Given the description of an element on the screen output the (x, y) to click on. 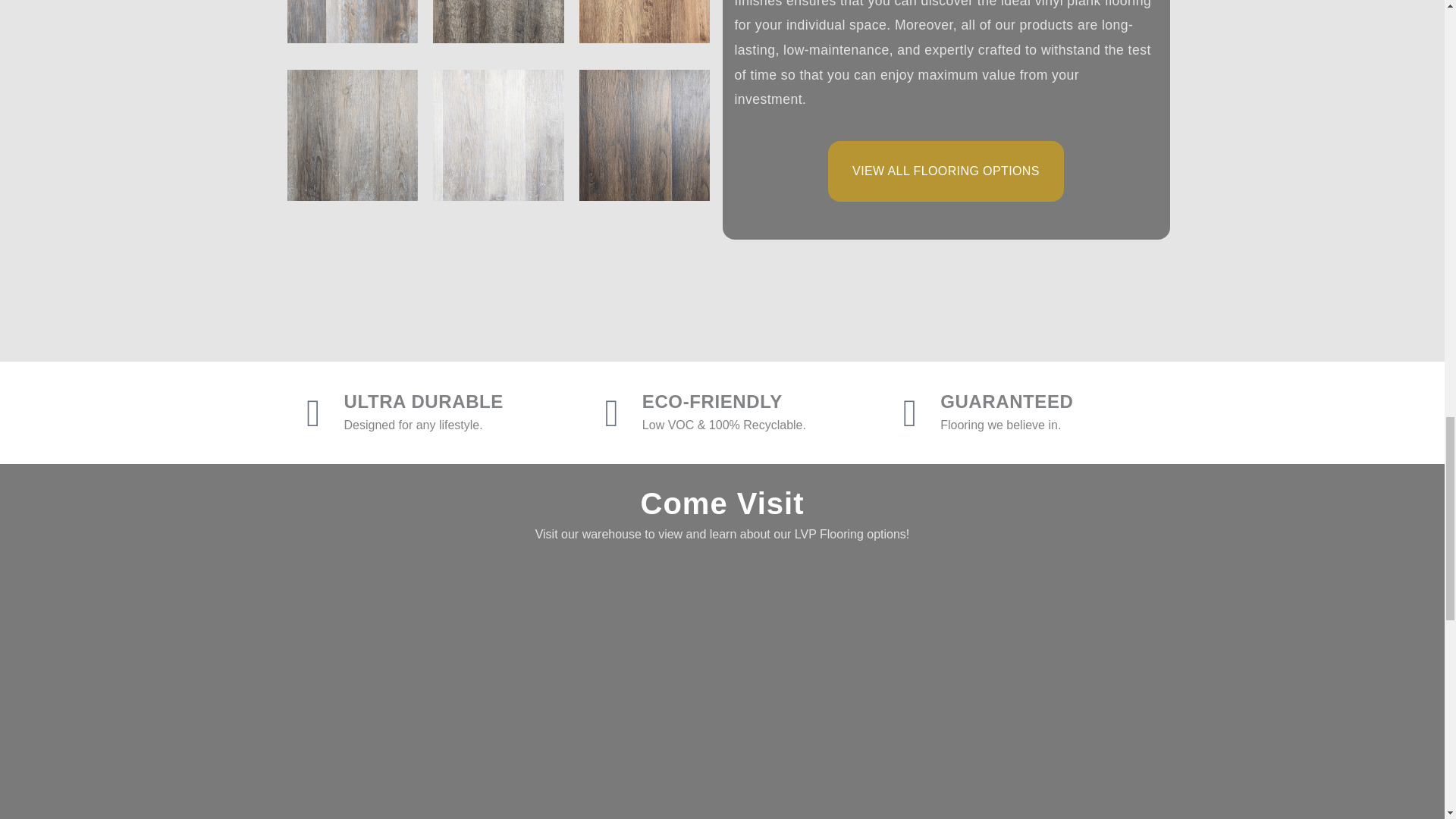
VIEW ALL FLOORING OPTIONS (946, 170)
